Given the description of an element on the screen output the (x, y) to click on. 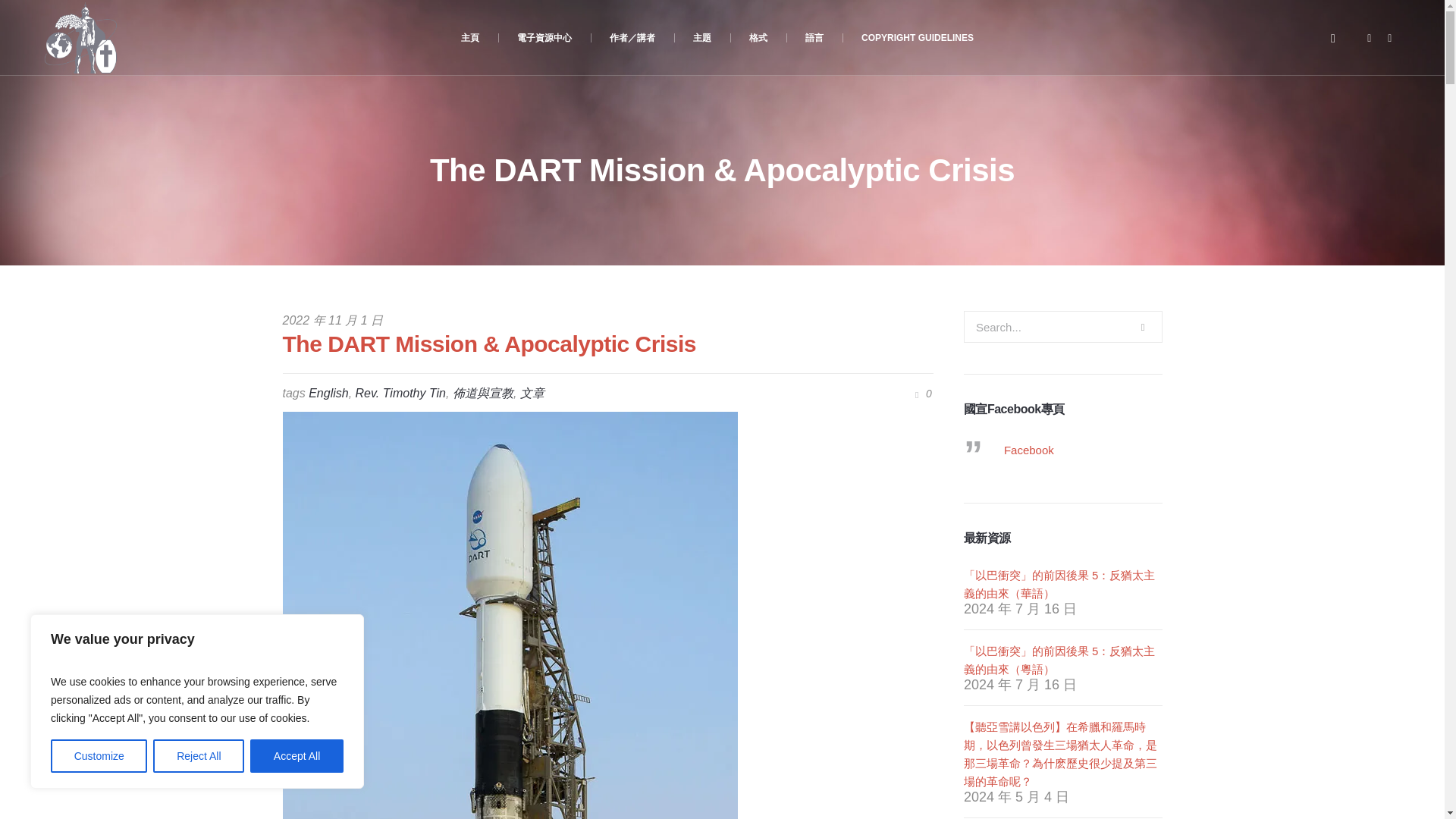
Facebook (1369, 38)
Customize (98, 756)
Accept All (296, 756)
Reject All (198, 756)
